Given the description of an element on the screen output the (x, y) to click on. 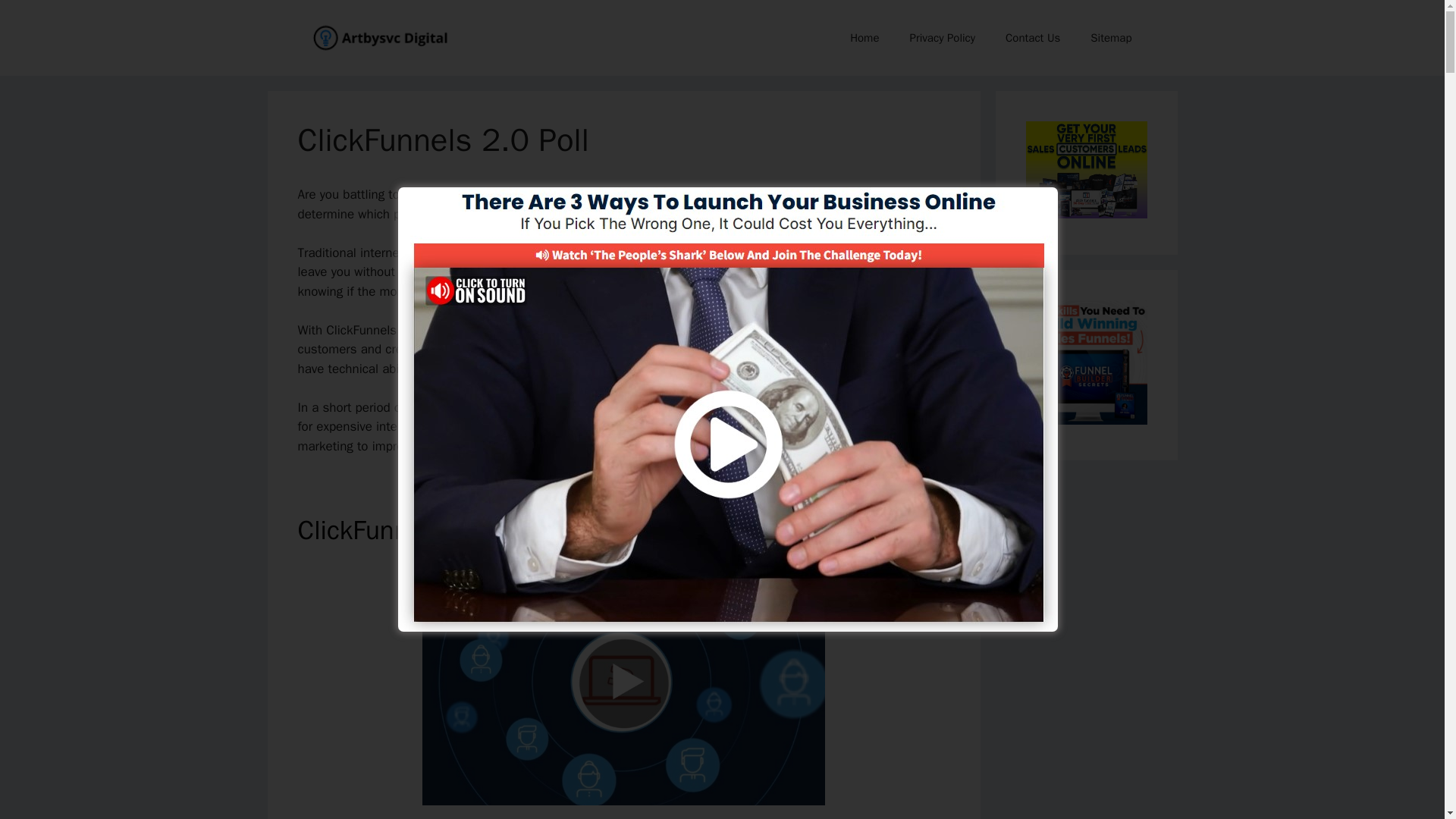
Sitemap (1111, 37)
Home (863, 37)
Privacy Policy (941, 37)
Contact Us (1032, 37)
